Given the description of an element on the screen output the (x, y) to click on. 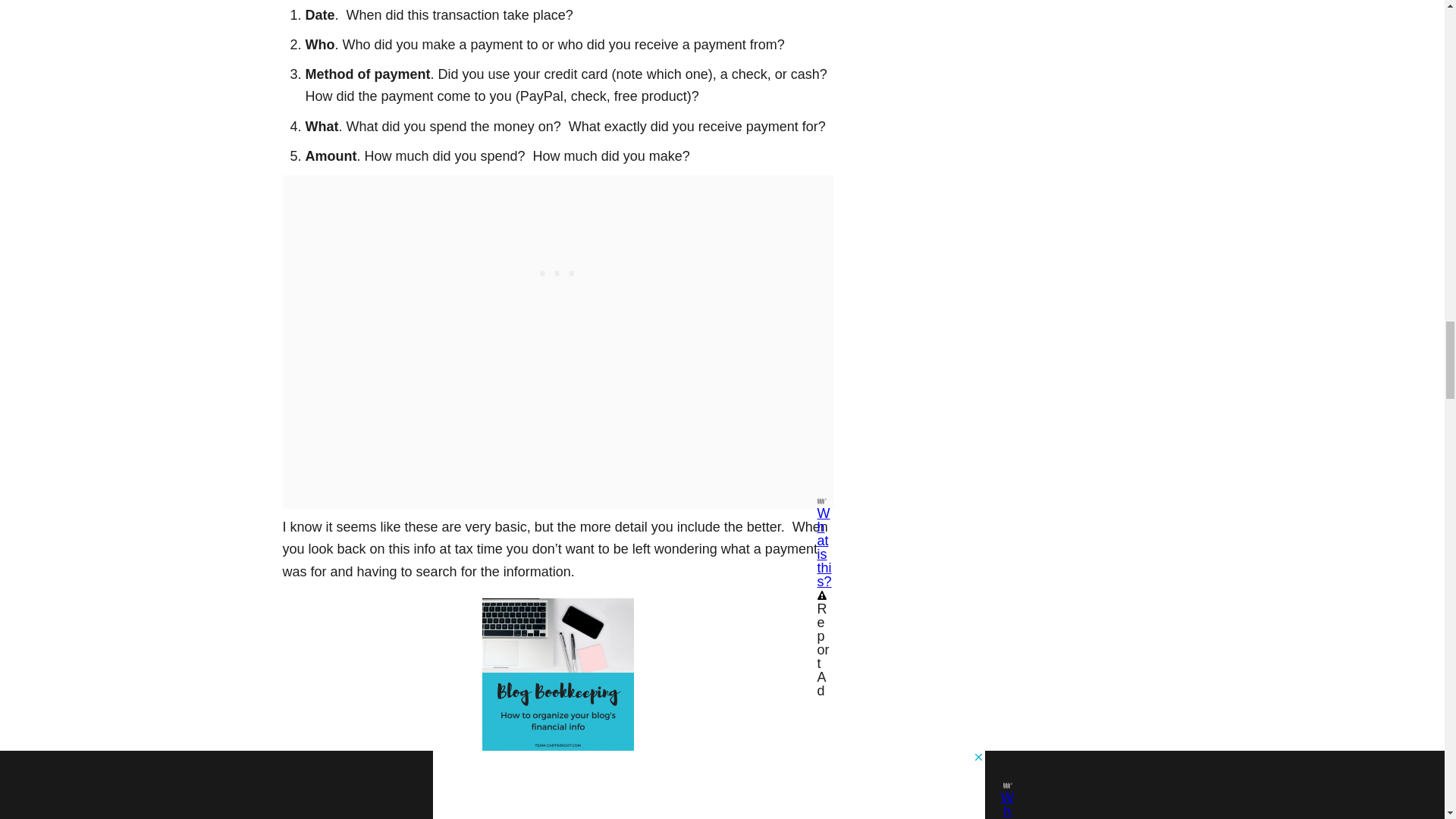
3rd party ad content (557, 269)
